Given the description of an element on the screen output the (x, y) to click on. 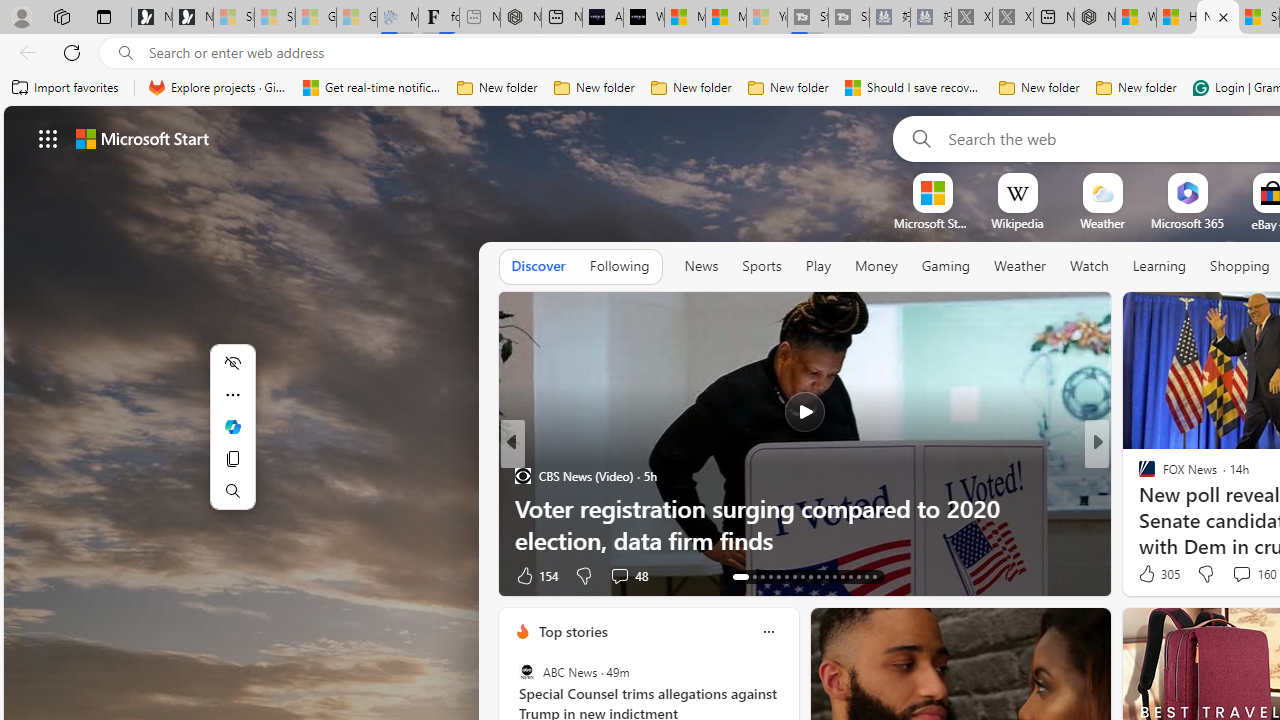
More actions (232, 394)
New tab - Sleeping (479, 17)
Ad (1142, 575)
View comments 26 Comment (1229, 575)
What's the best AI voice generator? - voice.ai (643, 17)
View comments 61 Comment (1234, 575)
63 Like (1149, 574)
X - Sleeping (1012, 17)
Shopping (1240, 265)
AutomationID: tab-43 (874, 576)
Search (917, 138)
Weather (1020, 265)
